Given the description of an element on the screen output the (x, y) to click on. 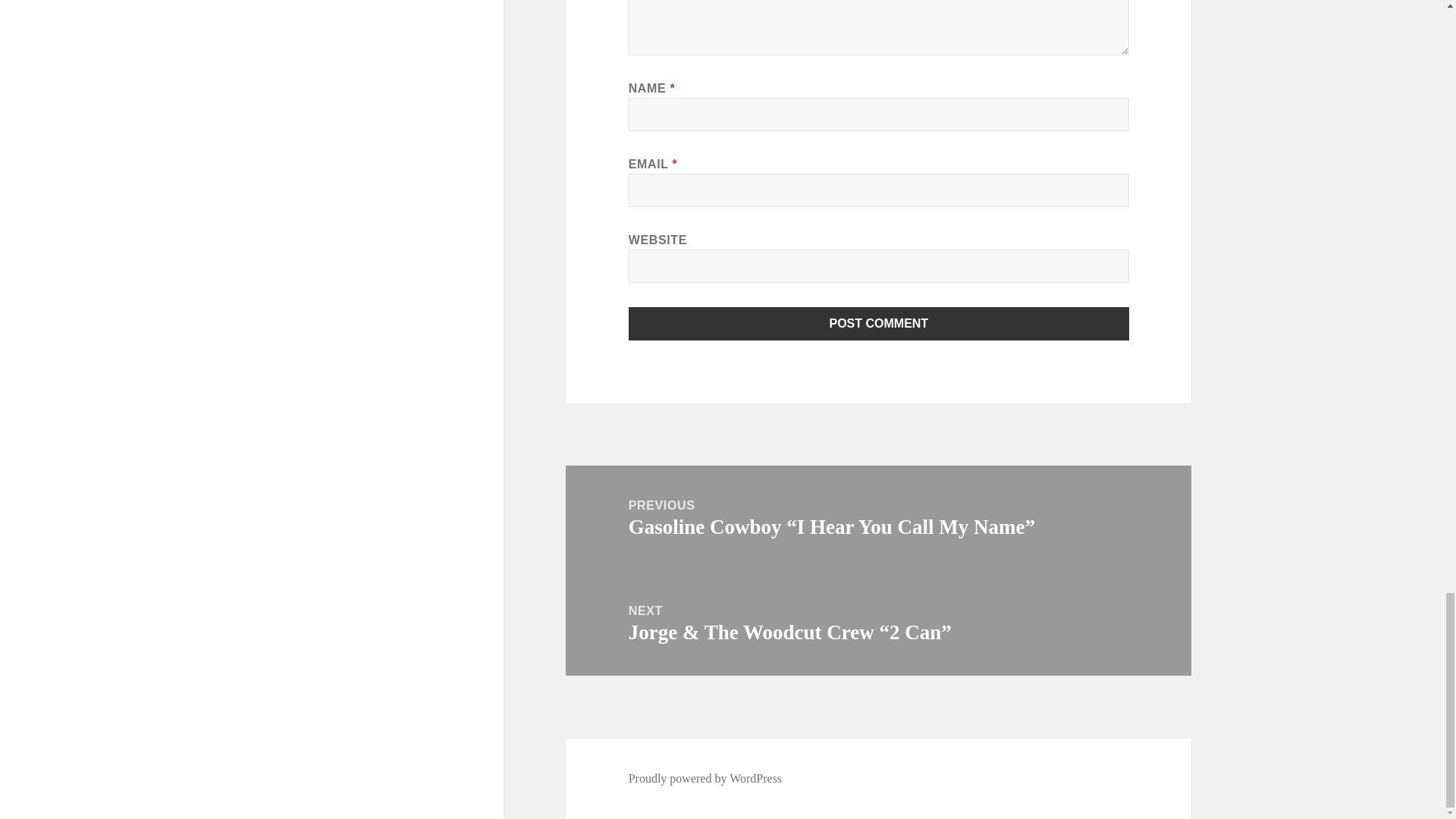
Post Comment (878, 323)
Proudly powered by WordPress (704, 778)
Post Comment (878, 323)
